Given the description of an element on the screen output the (x, y) to click on. 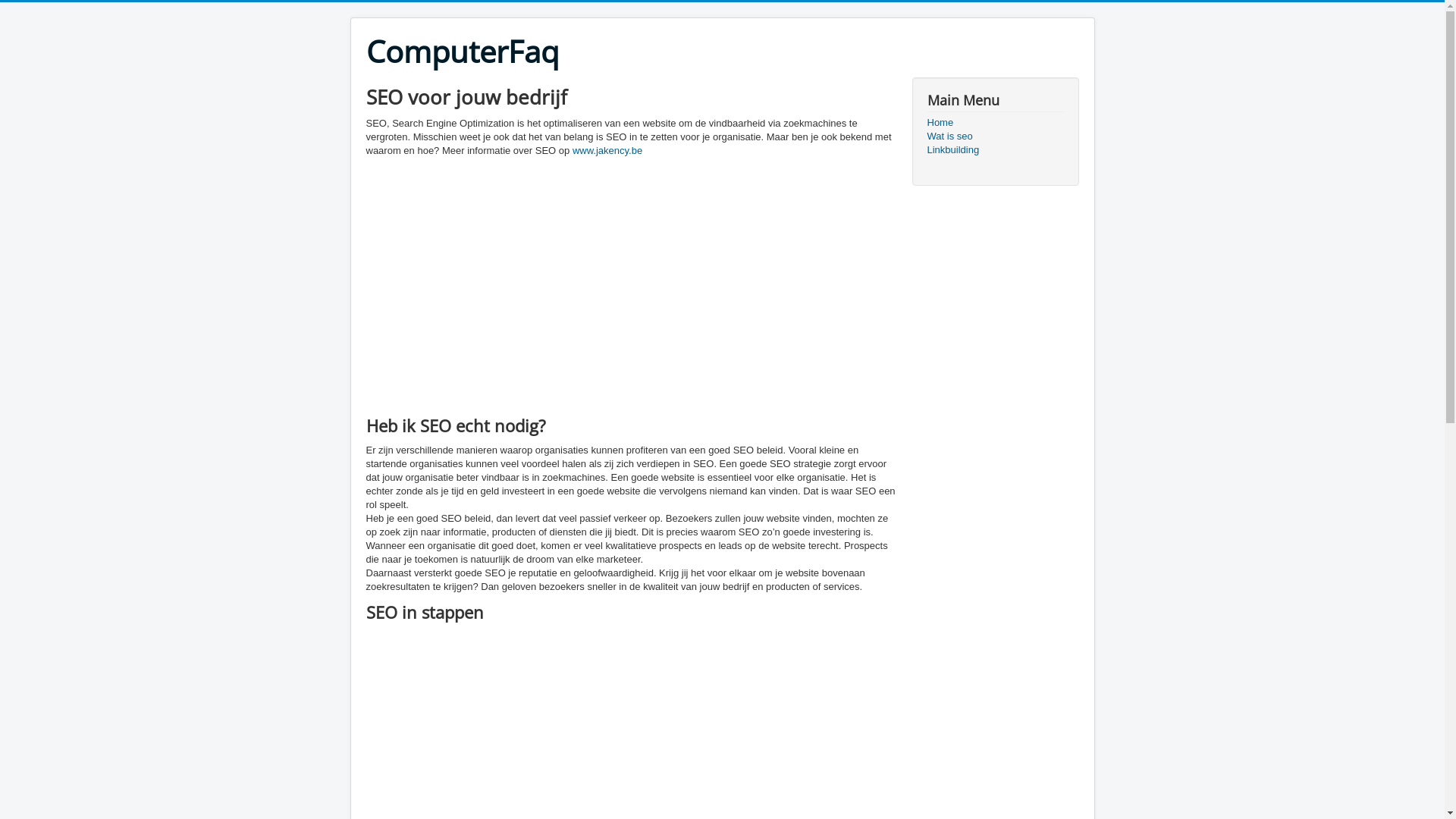
ComputerFaq Element type: text (461, 51)
Wat is seo Element type: text (994, 136)
Home Element type: text (994, 122)
www.jakency.be Element type: text (607, 150)
Linkbuilding Element type: text (994, 149)
